Given the description of an element on the screen output the (x, y) to click on. 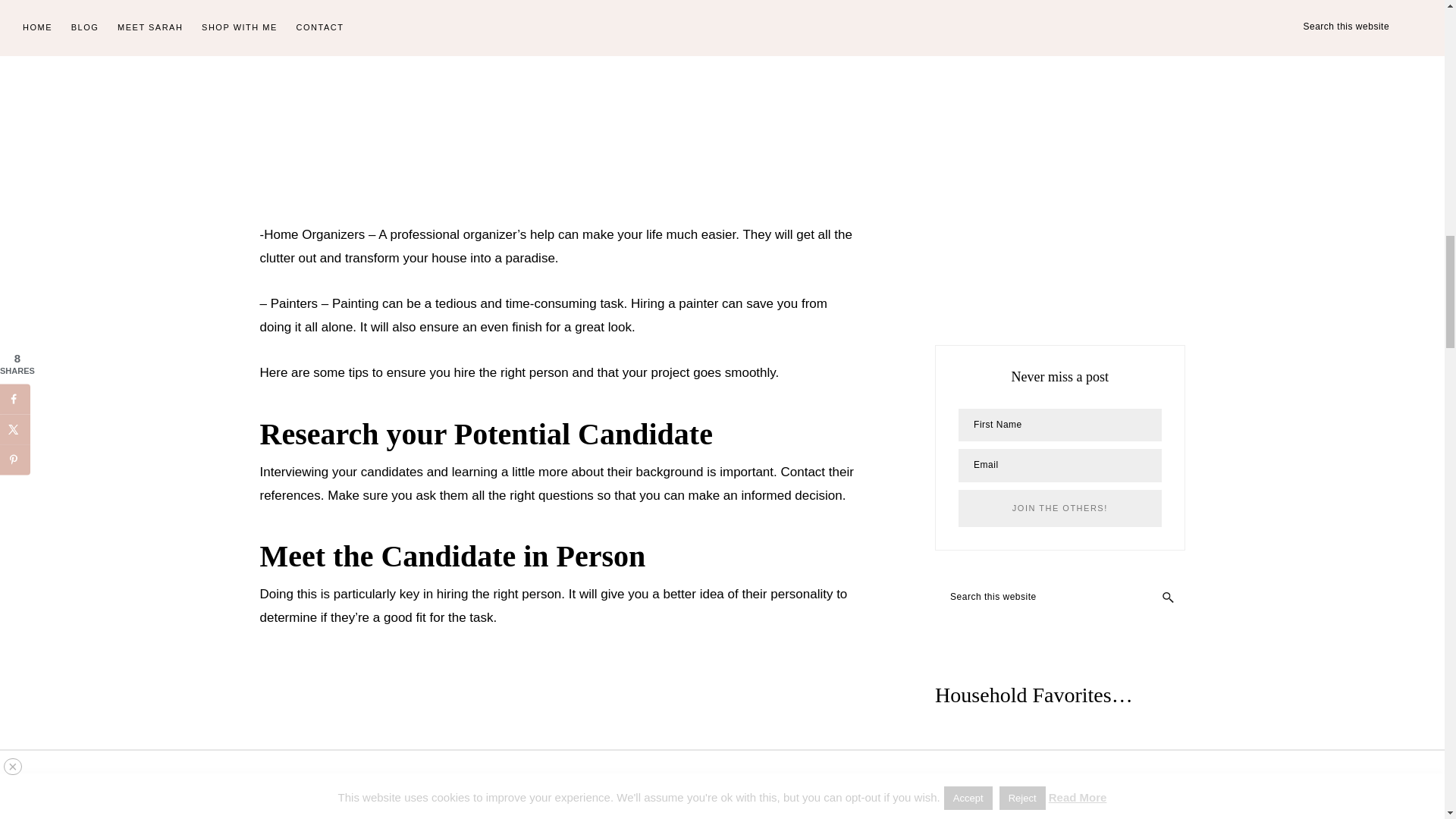
Join the Others! (1059, 508)
